Given the description of an element on the screen output the (x, y) to click on. 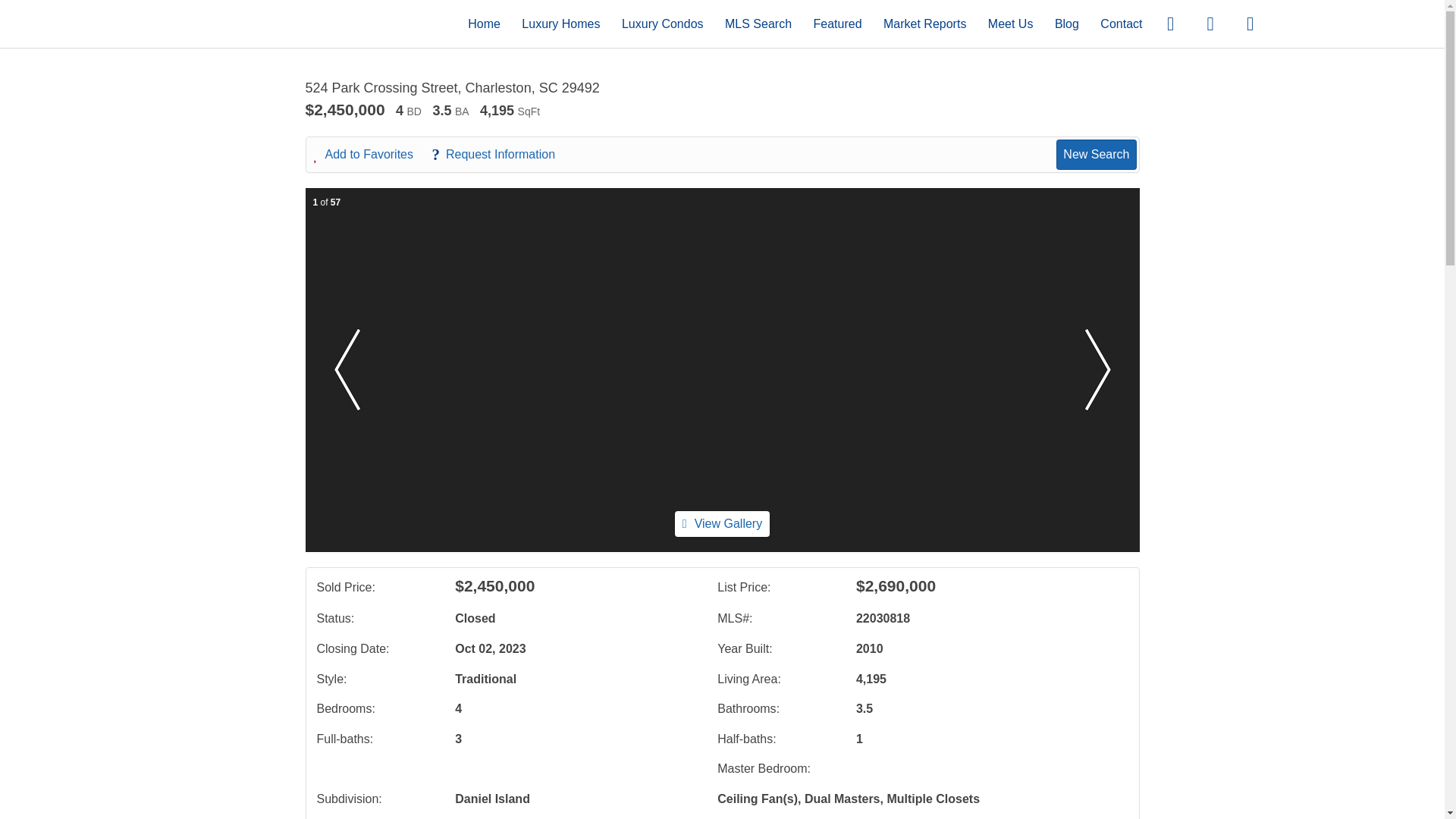
MLS Search (758, 23)
Request Information (500, 154)
View Gallery (722, 522)
Luxury Homes (560, 23)
View Gallery (722, 524)
Luxury Condos (662, 23)
New Search (1096, 154)
Market Reports (924, 23)
Home (483, 23)
Meet Us (1010, 23)
